Given the description of an element on the screen output the (x, y) to click on. 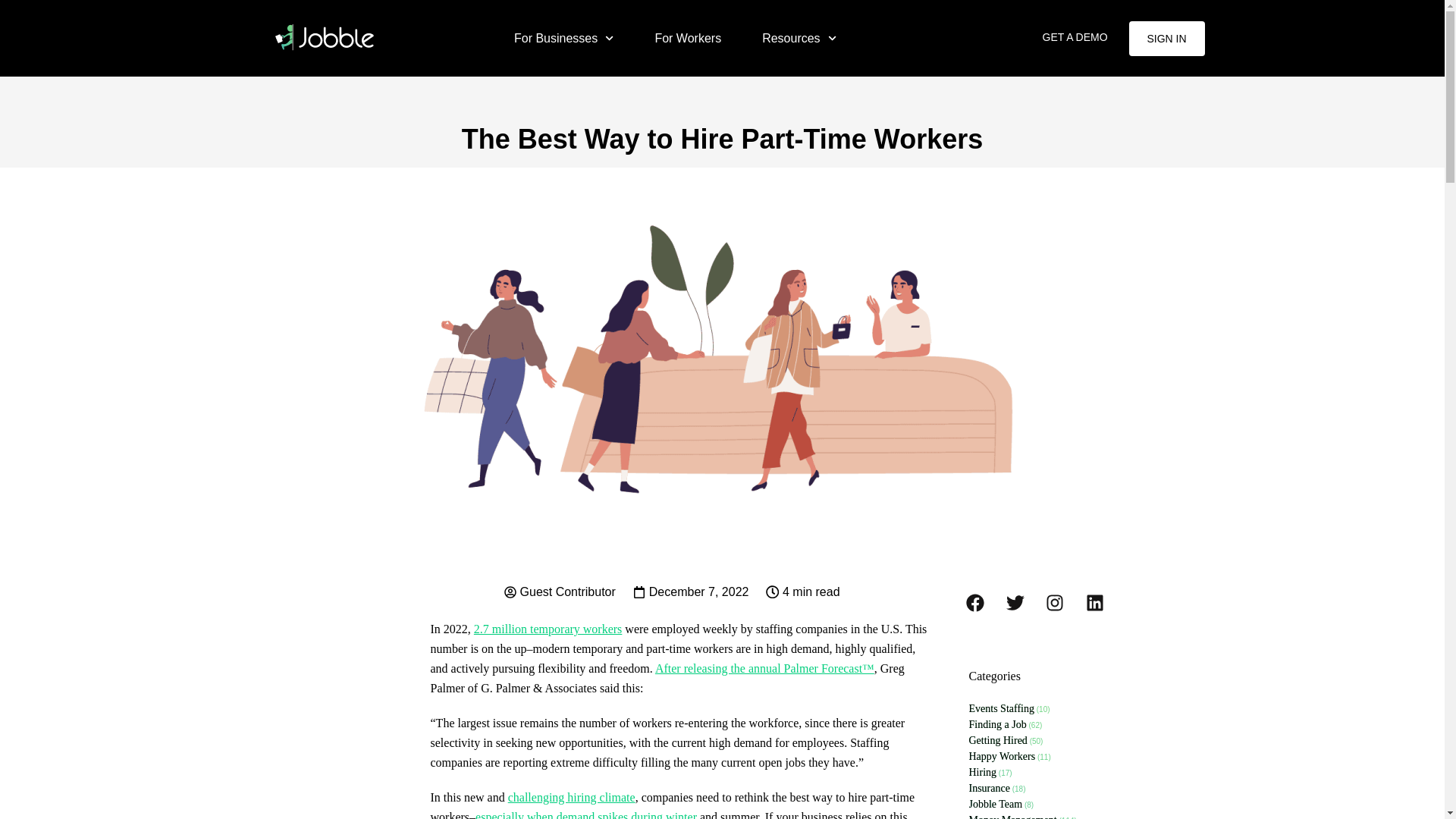
Resources (798, 37)
For Businesses (563, 37)
For Workers (687, 37)
